Given the description of an element on the screen output the (x, y) to click on. 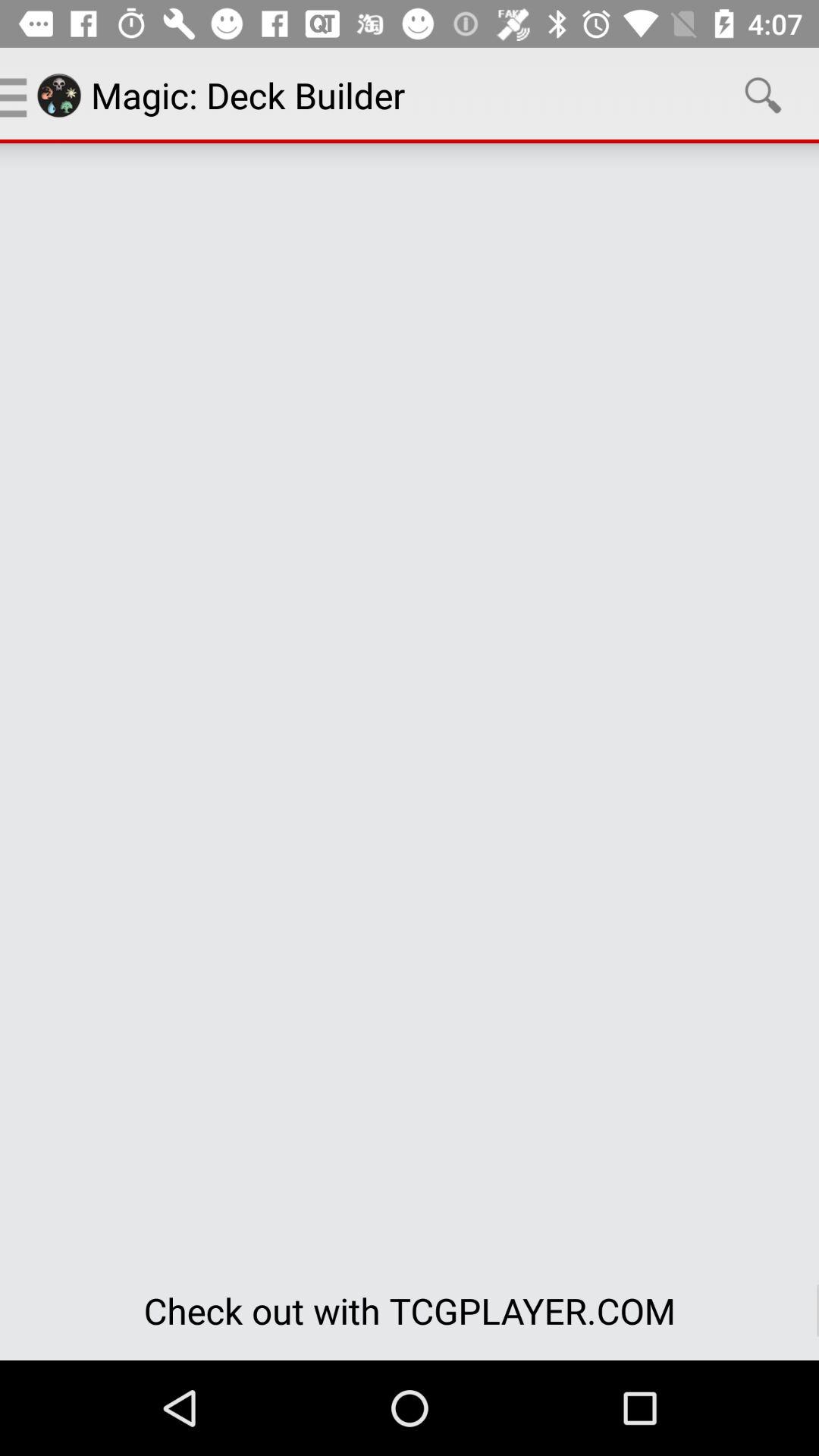
launch the button at the bottom (409, 1310)
